Given the description of an element on the screen output the (x, y) to click on. 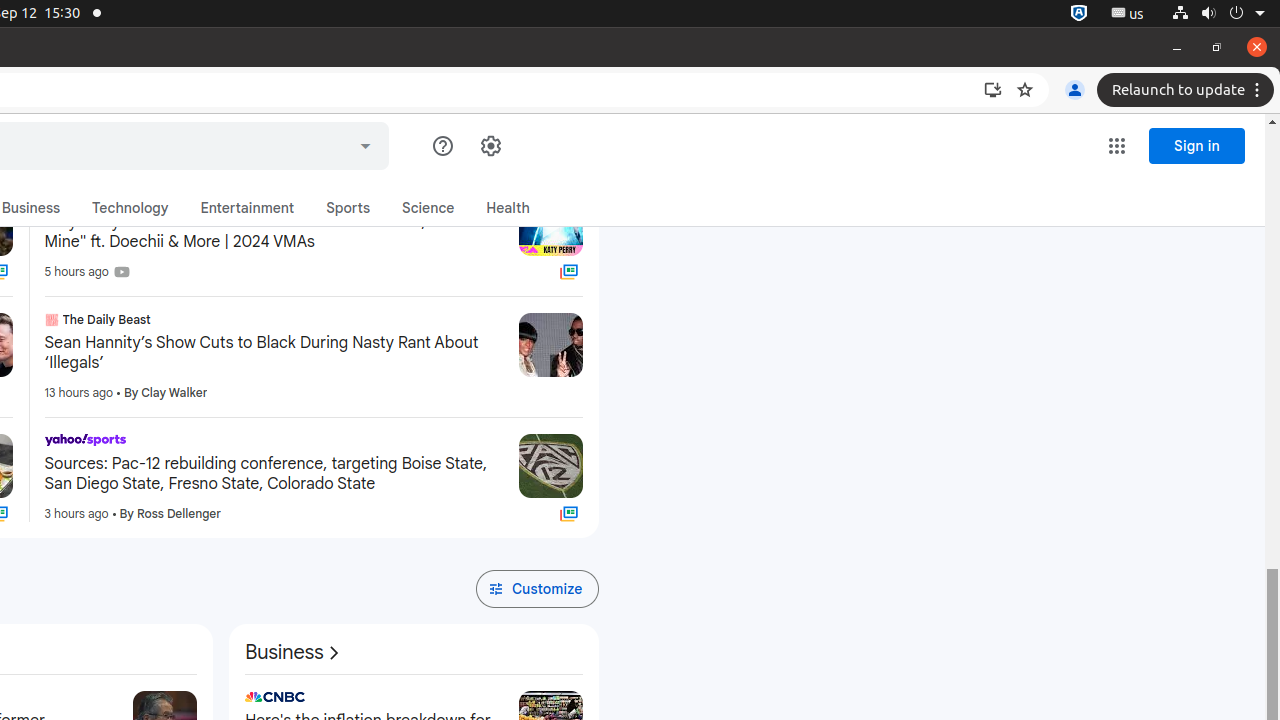
More - Sources: Pac-12 rebuilding conference, targeting Boise State, San Diego State, Fresno State, Colorado State Element type: push-button (496, 443)
You Element type: push-button (1075, 90)
Google apps Element type: push-button (1117, 145)
Customize Element type: push-button (537, 589)
Sean Hannity’s Show Cuts to Black During Nasty Rant About ‘Illegals’ Element type: link (273, 353)
